Given the description of an element on the screen output the (x, y) to click on. 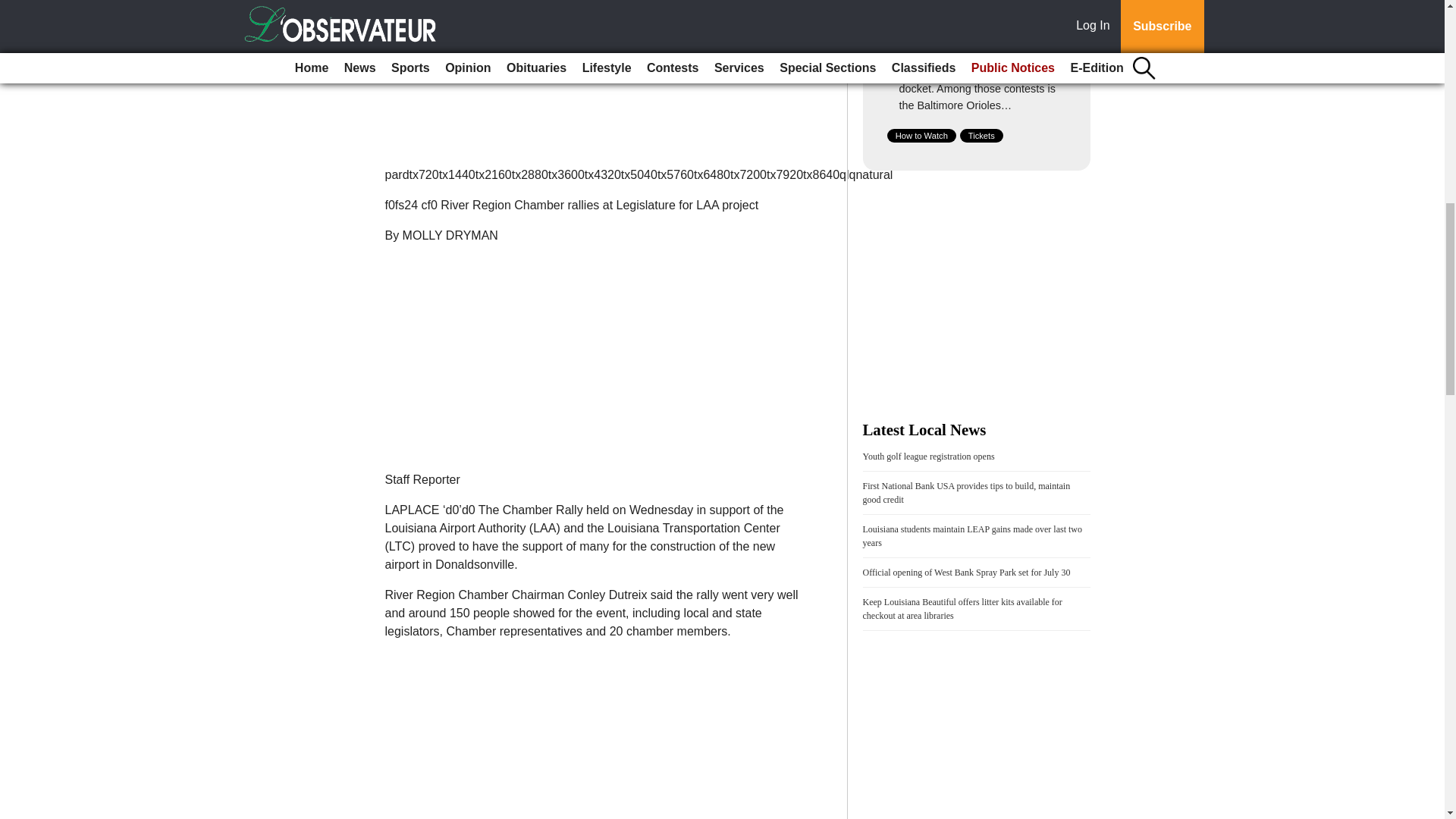
Official opening of West Bank Spray Park set for July 30 (966, 572)
How to Watch (921, 135)
Youth golf league registration opens (928, 456)
Tickets (981, 135)
